Given the description of an element on the screen output the (x, y) to click on. 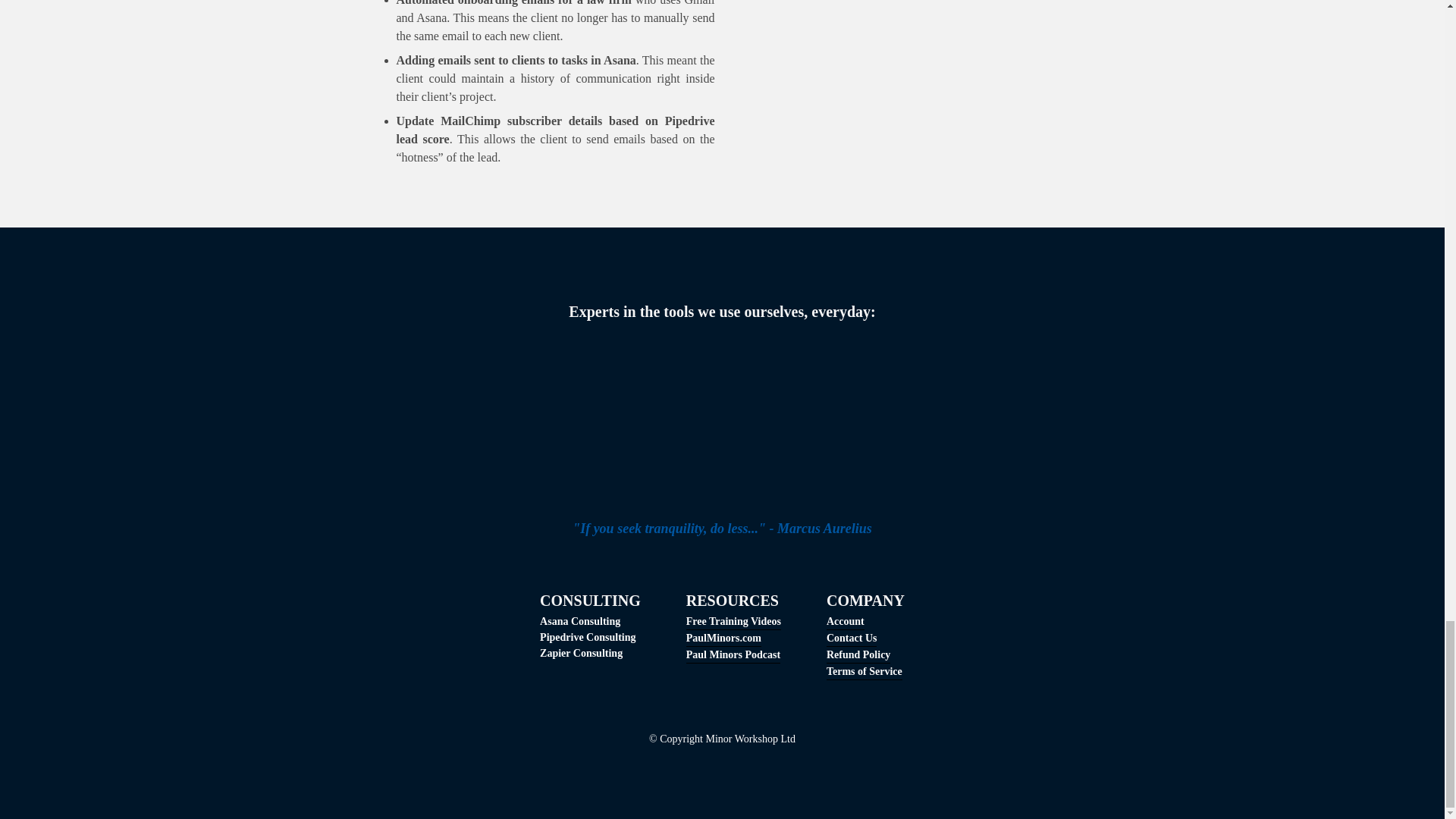
Paul Minors Podcast (732, 655)
Contact Us (852, 638)
Zapier Consulting (581, 652)
Free Training Videos (732, 621)
Pipedrive Consulting (587, 637)
Account (845, 621)
CONSULTING (590, 600)
Refund Policy (858, 655)
PaulMinors.com (723, 638)
Asana Consulting (580, 621)
Terms of Service (864, 671)
